Given the description of an element on the screen output the (x, y) to click on. 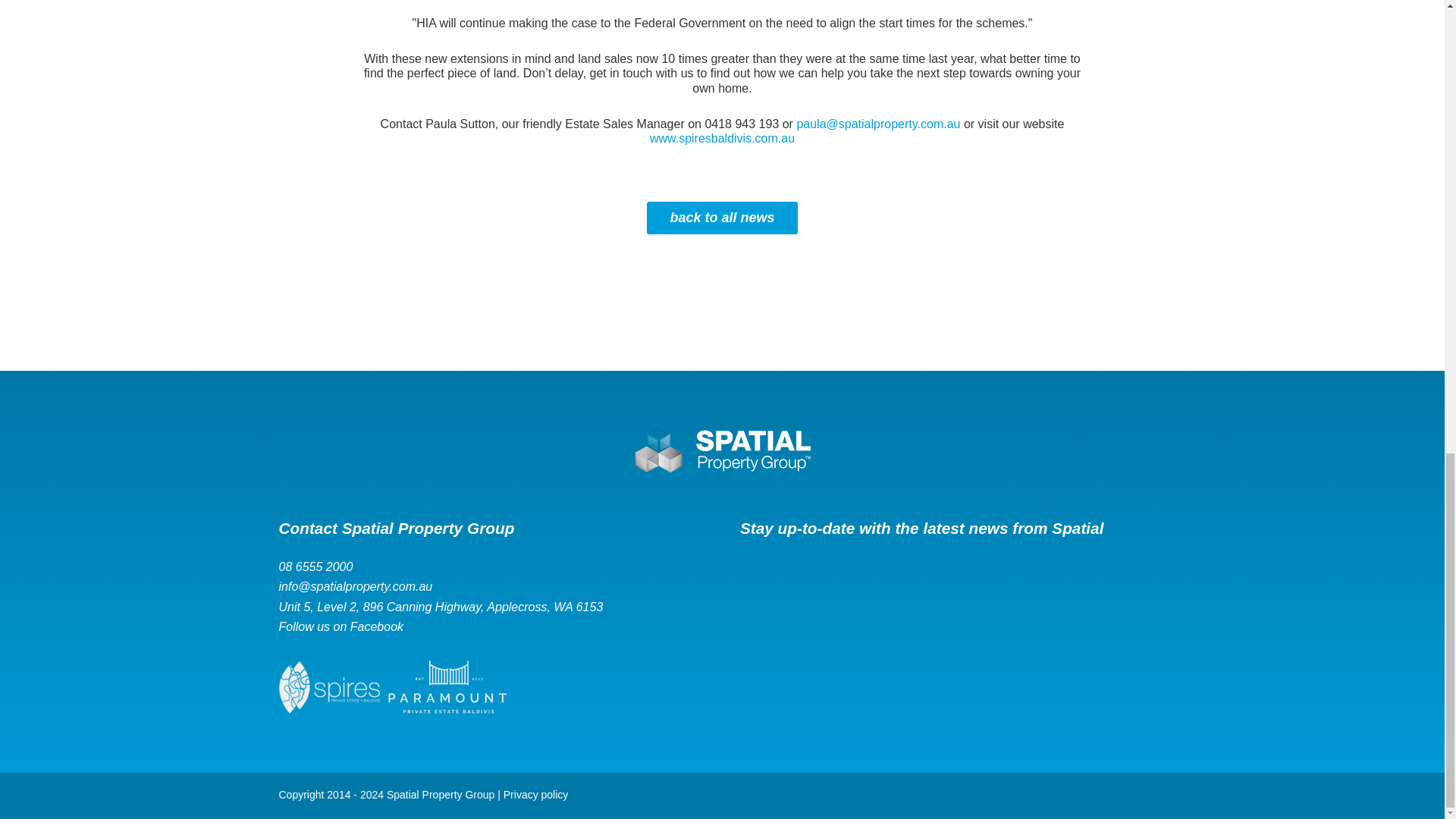
www.spiresbaldivis.com.au (721, 137)
back to all news (721, 217)
Follow us on Facebook (491, 626)
Privacy policy (536, 794)
08 6555 2000 (491, 566)
Unit 5, Level 2, 896 Canning Highway, Applecross, WA 6153 (491, 606)
